Given the description of an element on the screen output the (x, y) to click on. 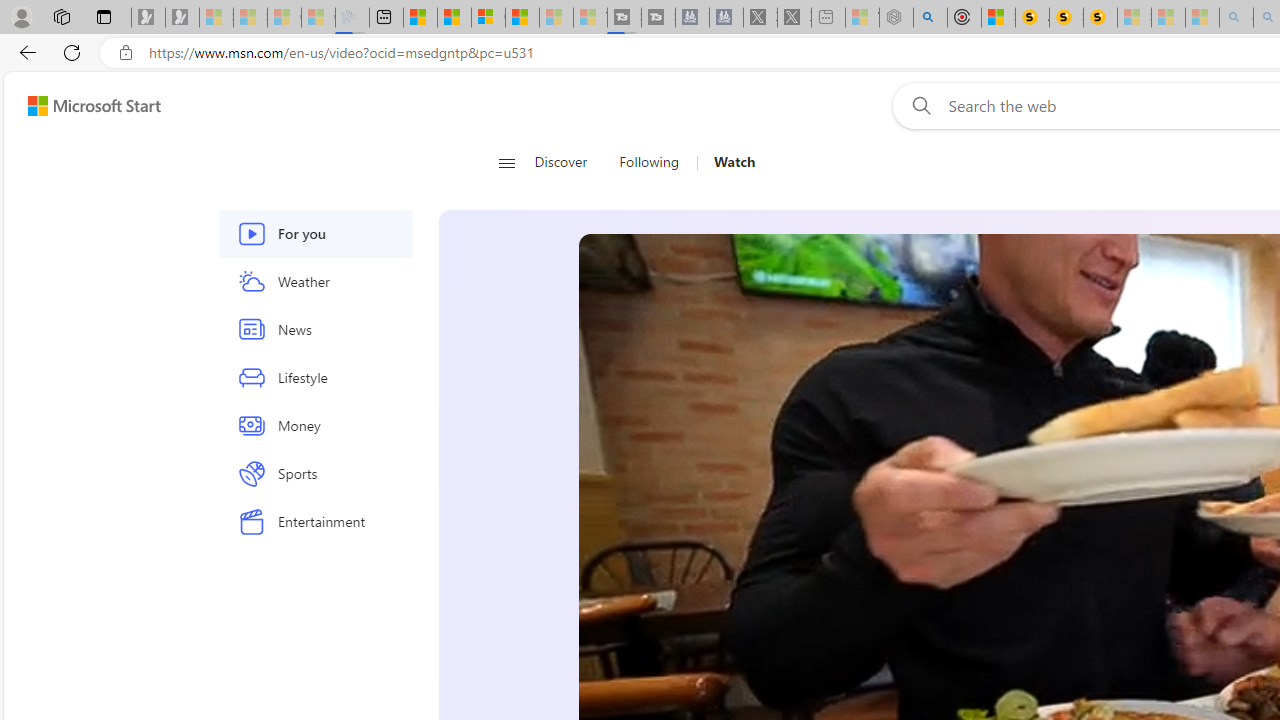
Open navigation menu (506, 162)
